Given the description of an element on the screen output the (x, y) to click on. 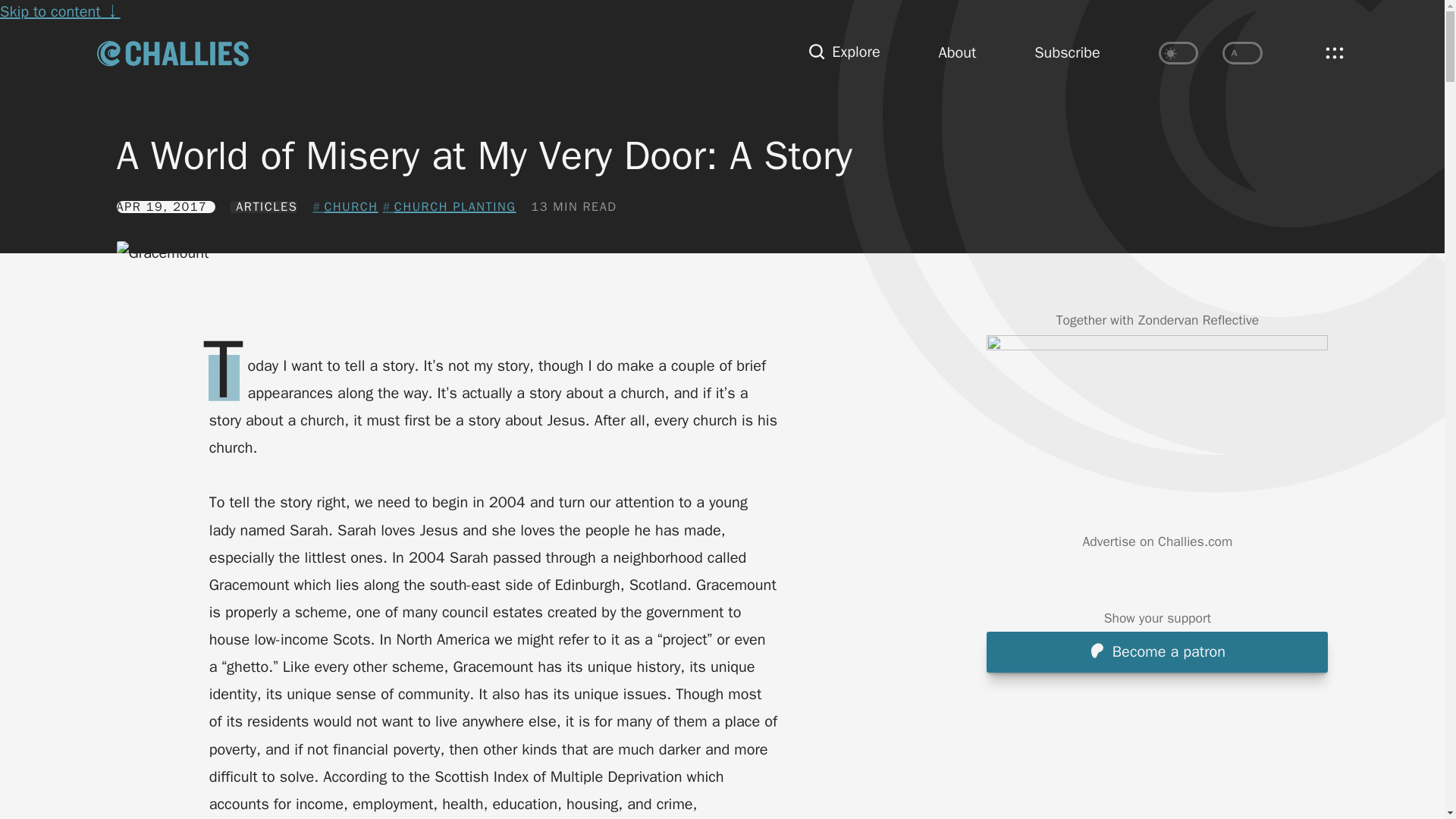
on (1242, 53)
ARTICLES (264, 206)
2250 words (573, 206)
Zondervan Reflective (1198, 320)
APR 19, 2017 (165, 206)
Become a patron (1157, 651)
CHURCH PLANTING (449, 207)
CHURCH (345, 207)
on (1178, 53)
About (957, 52)
